Given the description of an element on the screen output the (x, y) to click on. 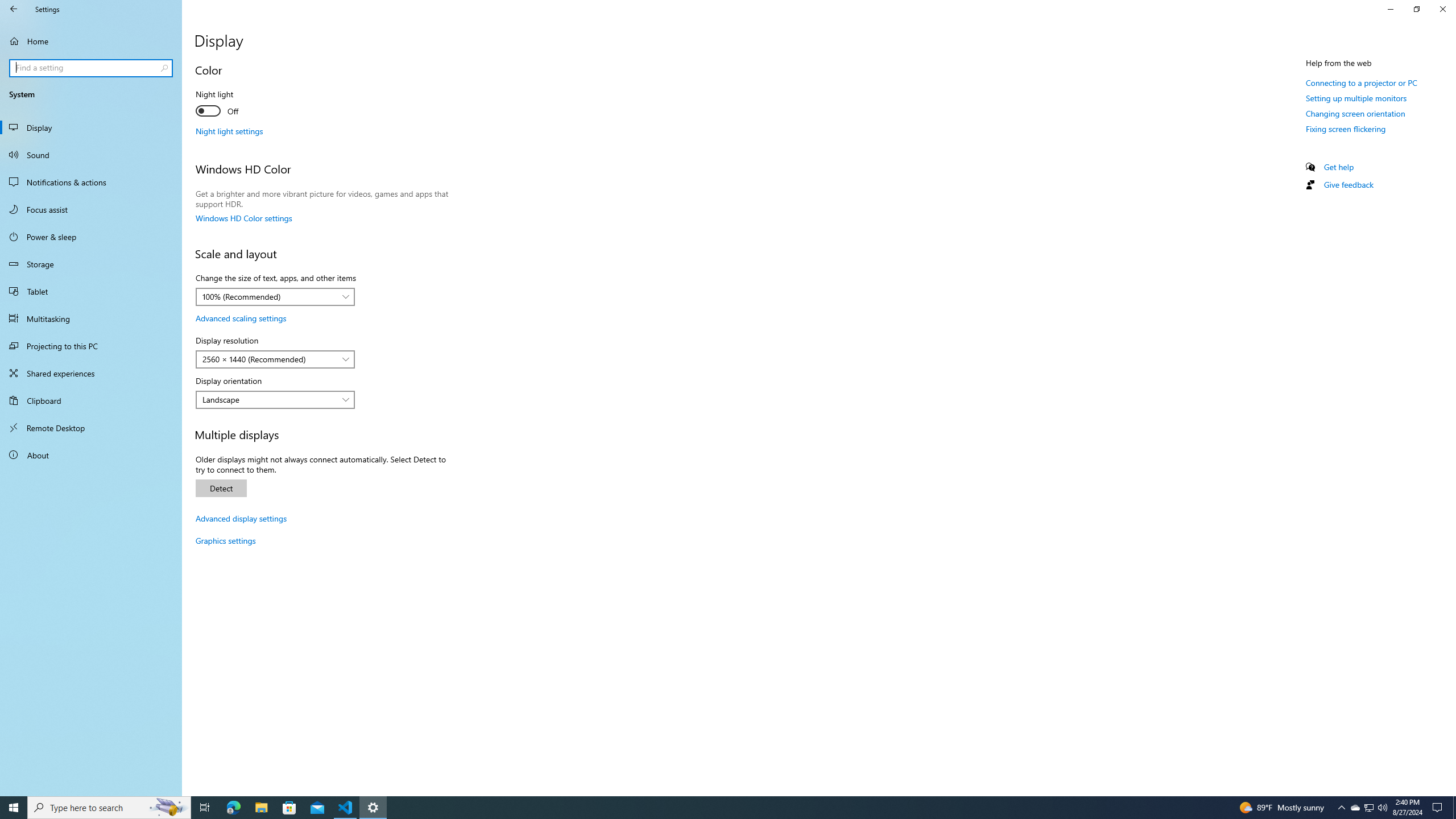
Focus assist (91, 208)
Windows HD Color settings (243, 217)
Connecting to a projector or PC (1361, 82)
Night light (237, 104)
Storage (91, 263)
Clipboard (91, 400)
Sound (91, 154)
Setting up multiple monitors (1356, 97)
Multitasking (91, 318)
